Given the description of an element on the screen output the (x, y) to click on. 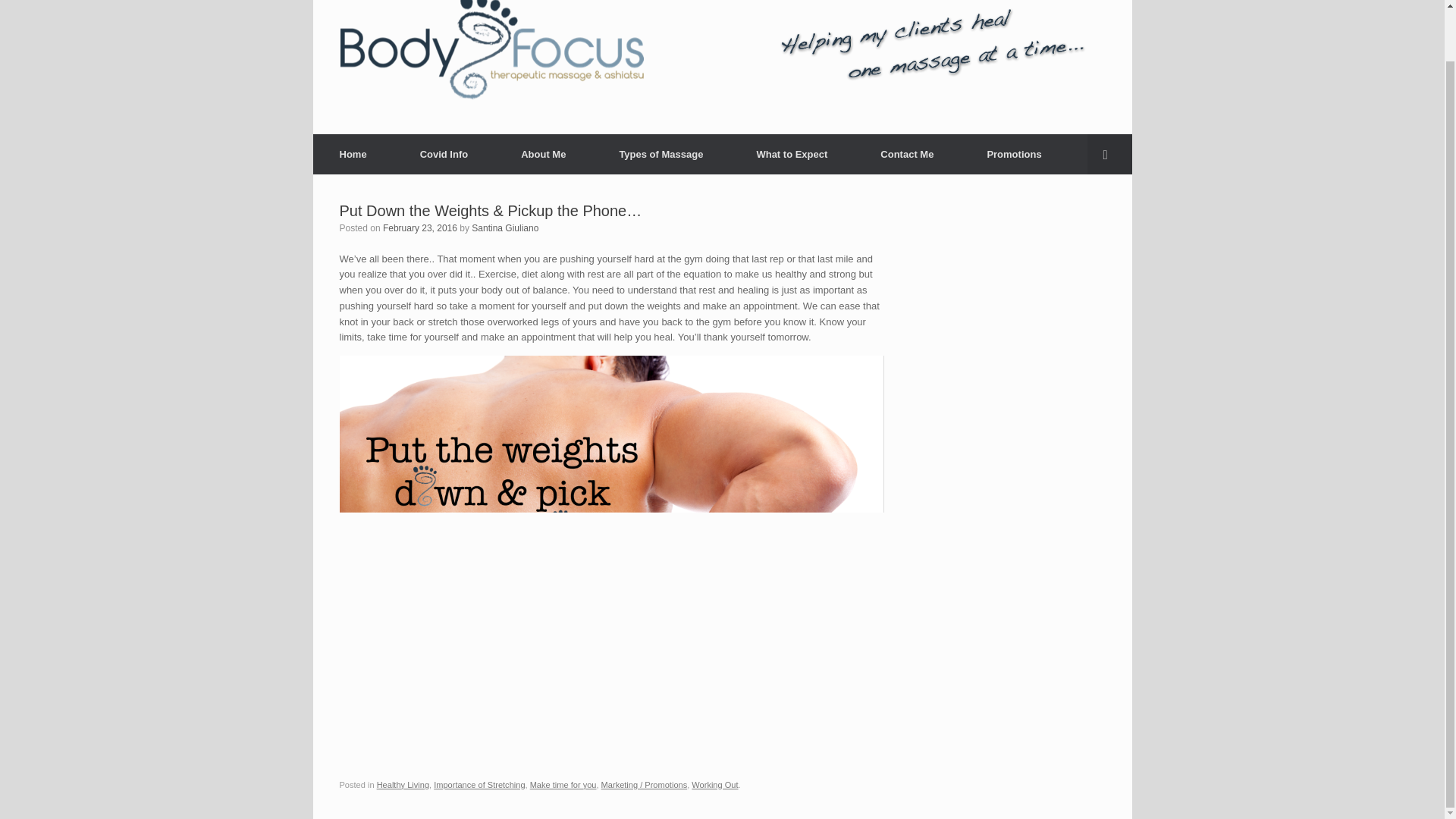
Working Out (714, 784)
February 23, 2016 (419, 227)
Home (353, 154)
Make time for you (562, 784)
Types of Massage (660, 154)
Styles of Massage I offer at Body Focus Therapeutic Massage (660, 154)
What to Expect (791, 154)
About Me (543, 154)
Body Focus Therapeutic Massage (492, 49)
Contact Me (906, 154)
